Given the description of an element on the screen output the (x, y) to click on. 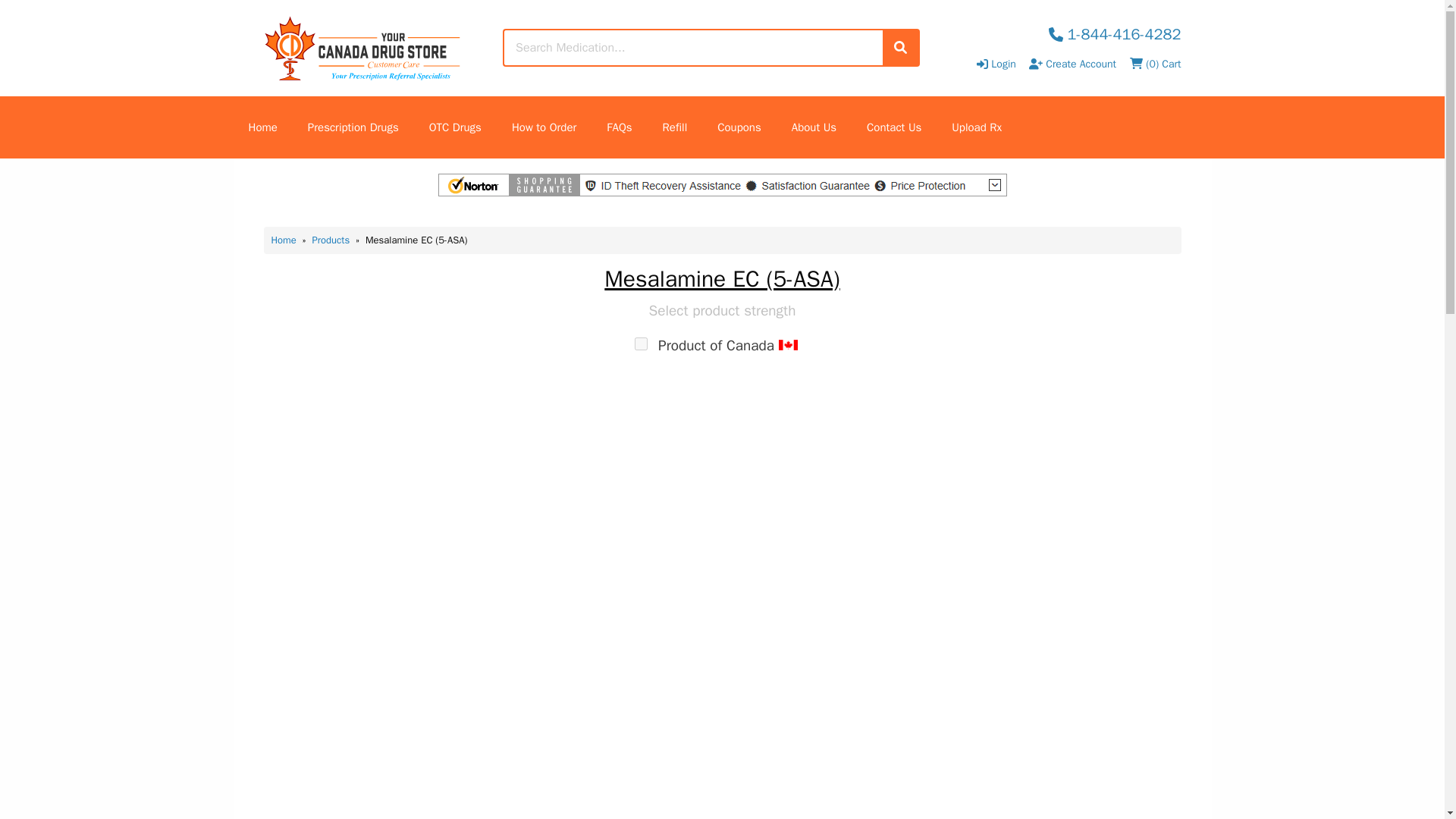
Home (283, 239)
FAQs (618, 127)
Prescription Drugs (352, 127)
Login (997, 63)
About Us (813, 127)
OTC Drugs (454, 127)
How to Order (543, 127)
Create Account (1072, 63)
Coupons (738, 127)
1 (640, 343)
